Given the description of an element on the screen output the (x, y) to click on. 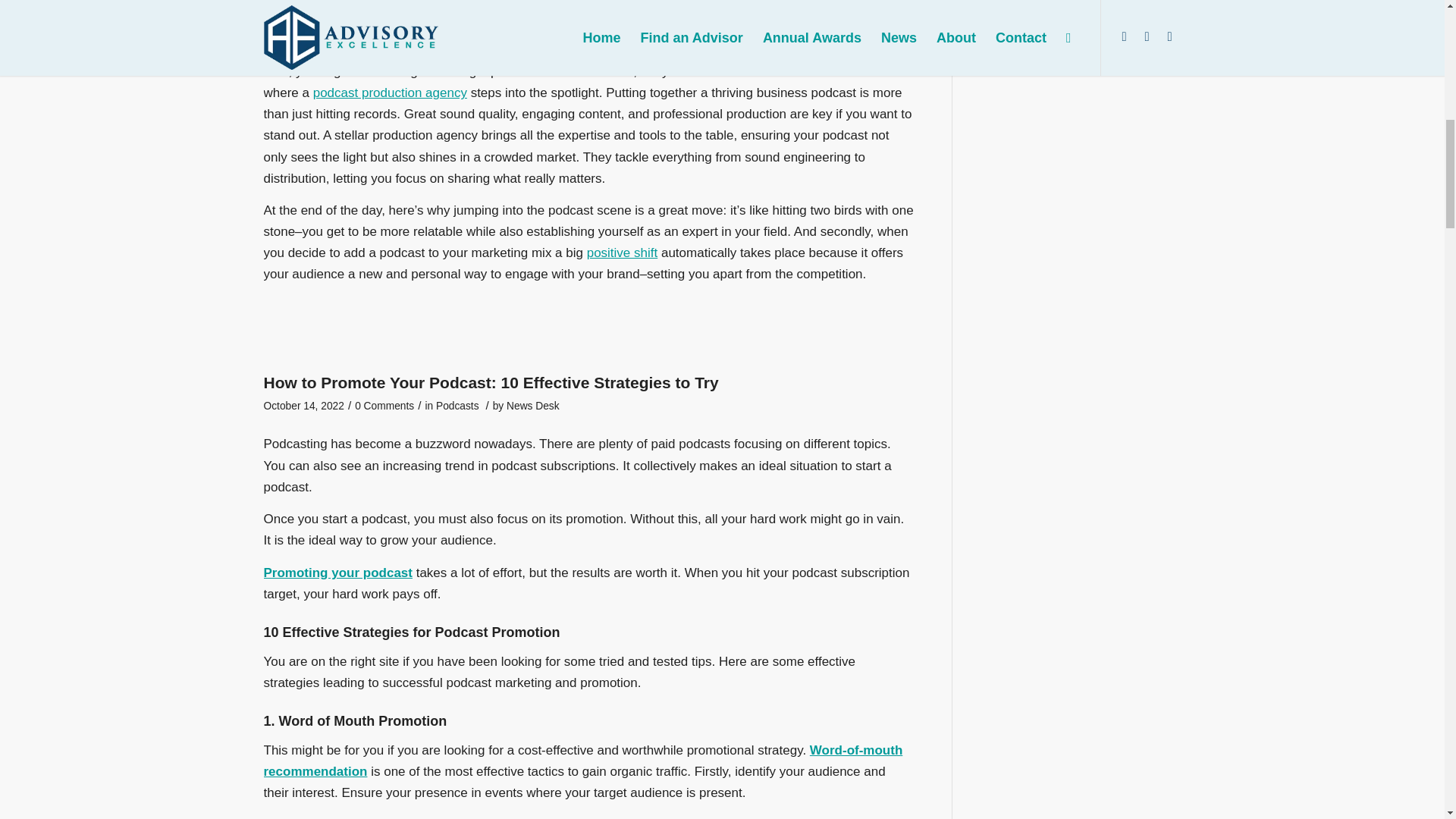
positive shift (622, 252)
How to Promote Your Podcast: 10 Effective Strategies to Try (491, 382)
podcast production agency (390, 92)
Word-of-mouth recommendation (582, 760)
Podcasts (457, 405)
News Desk (532, 405)
0 Comments (384, 405)
Promoting your podcast (337, 572)
